Given the description of an element on the screen output the (x, y) to click on. 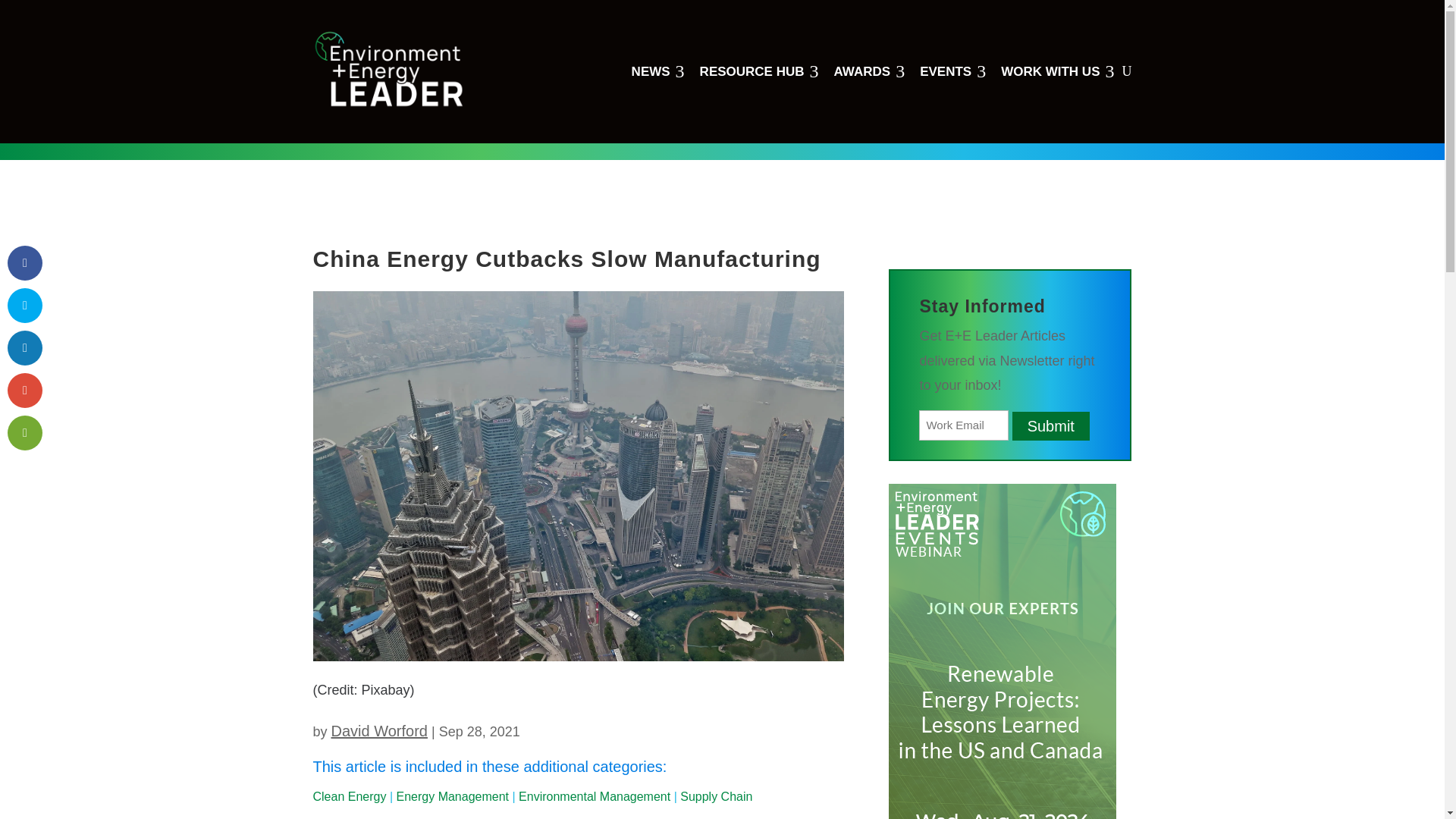
Posts by David Worford (759, 71)
Submit (379, 730)
